Given the description of an element on the screen output the (x, y) to click on. 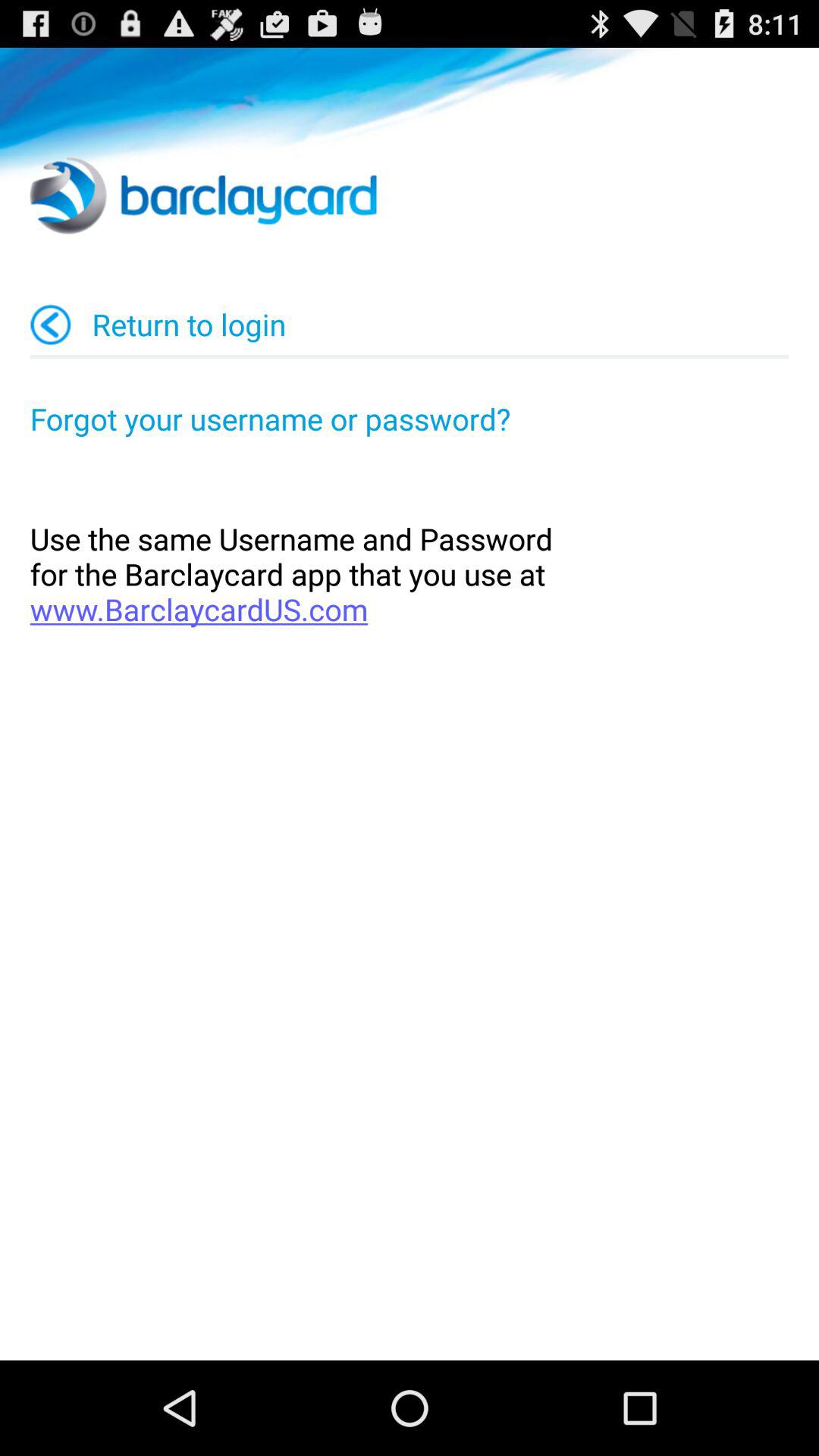
turn off app next to the return to login icon (51, 324)
